Given the description of an element on the screen output the (x, y) to click on. 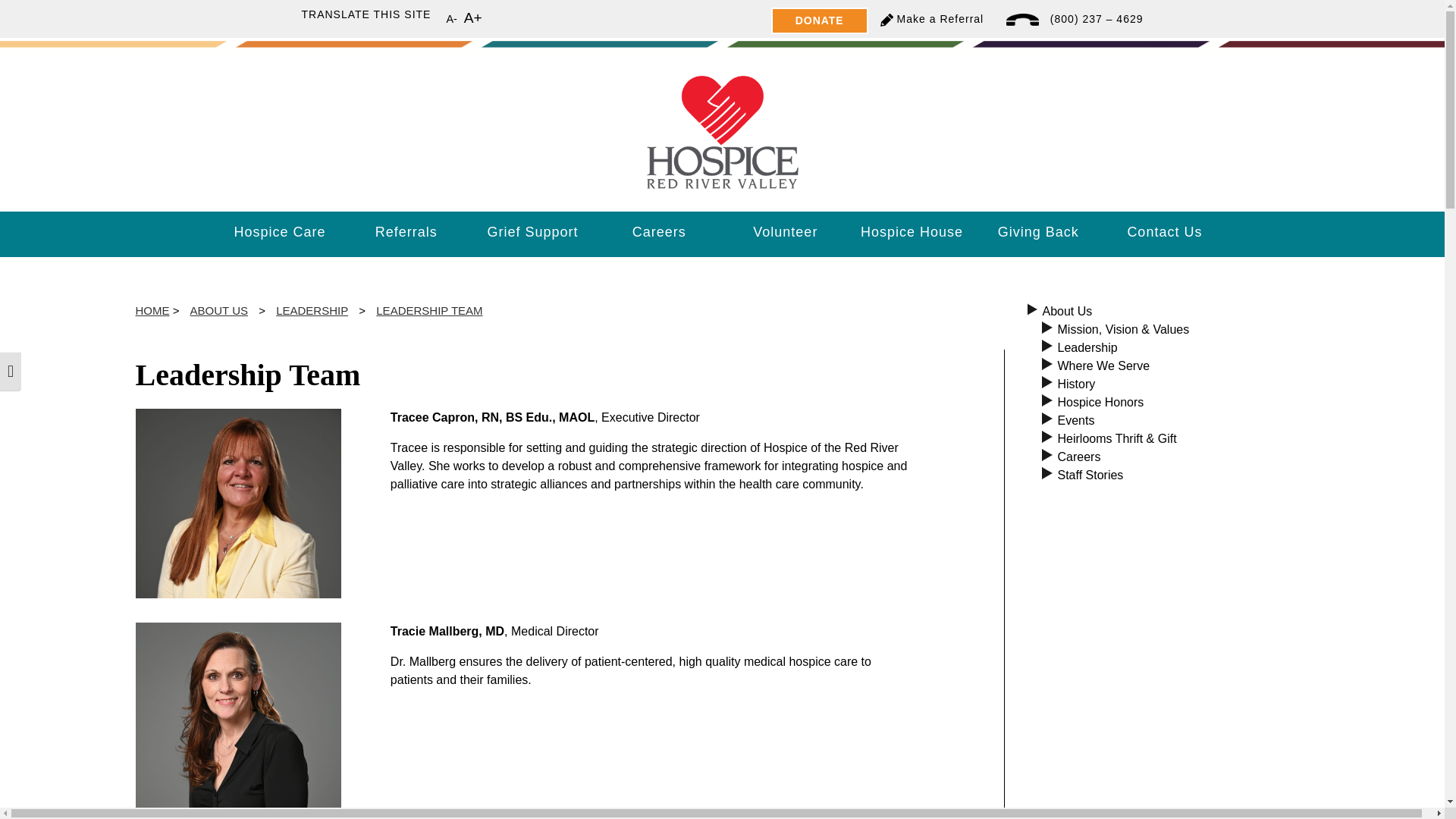
DONATE (819, 20)
Volunteer (785, 232)
Referrals (405, 232)
Hospice House (911, 232)
Make a Referral (940, 19)
Hospice Care (279, 232)
Grief Support (531, 232)
Careers (658, 232)
